Given the description of an element on the screen output the (x, y) to click on. 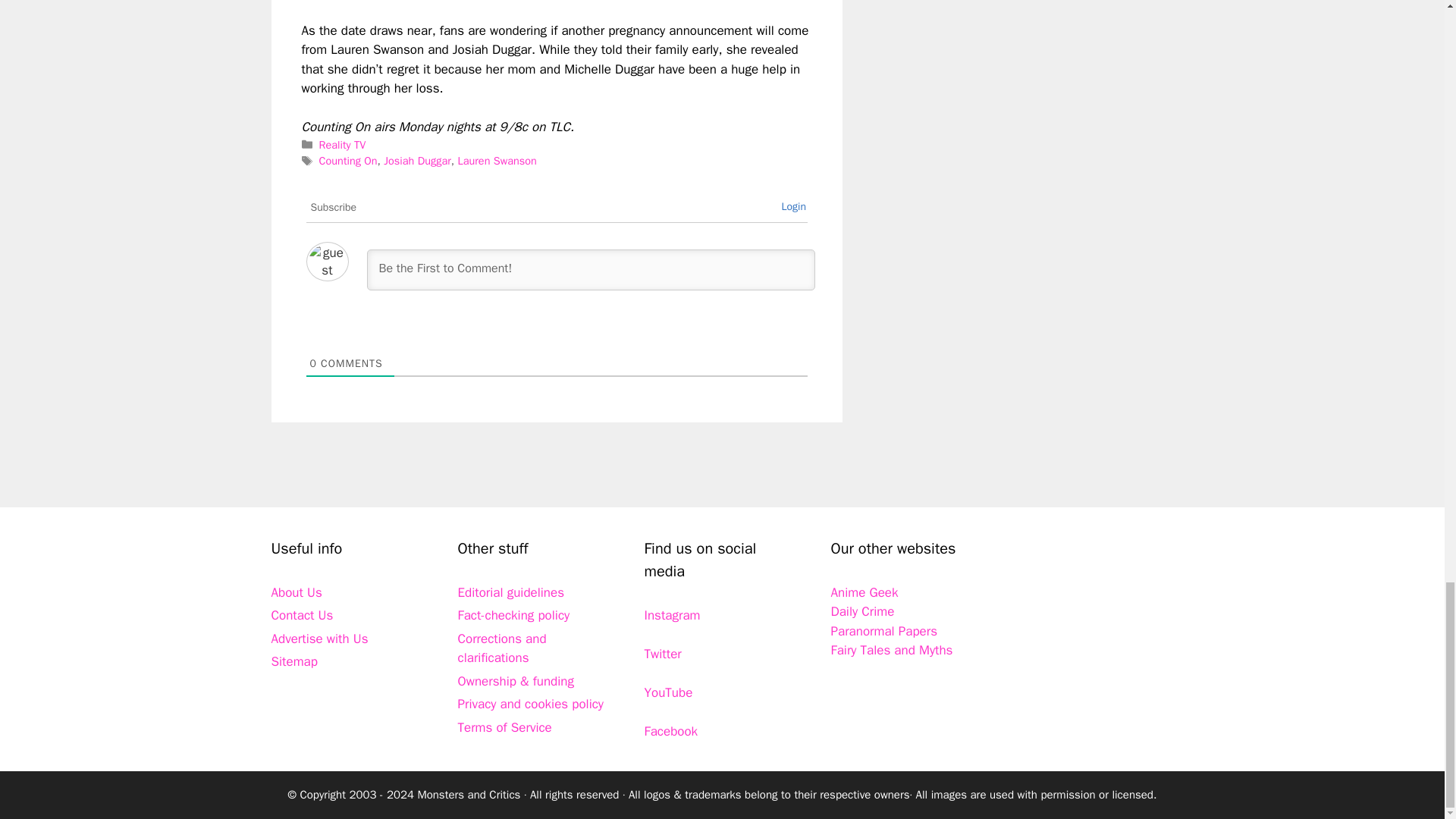
Editorial guidelines (511, 592)
Reality TV (342, 144)
Fact-checking policy (514, 615)
About Us (295, 592)
Contact Us (301, 615)
Corrections and clarifications (502, 648)
Josiah Duggar (417, 160)
Lauren Swanson (496, 160)
Login (793, 205)
Privacy and cookies policy (531, 703)
